Given the description of an element on the screen output the (x, y) to click on. 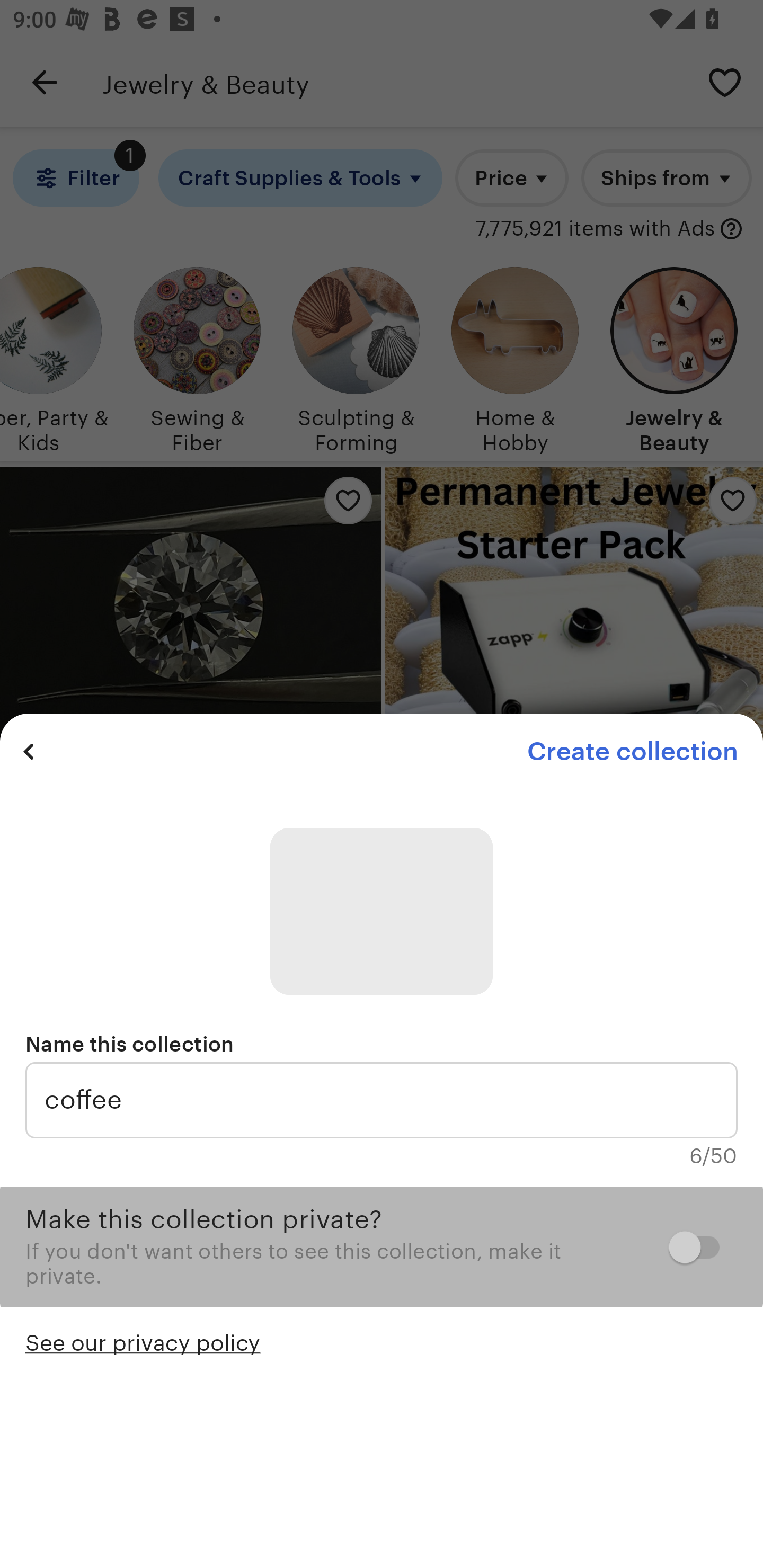
Previous (28, 751)
Create collection (632, 751)
coffee (381, 1099)
See our privacy policy (142, 1341)
